Given the description of an element on the screen output the (x, y) to click on. 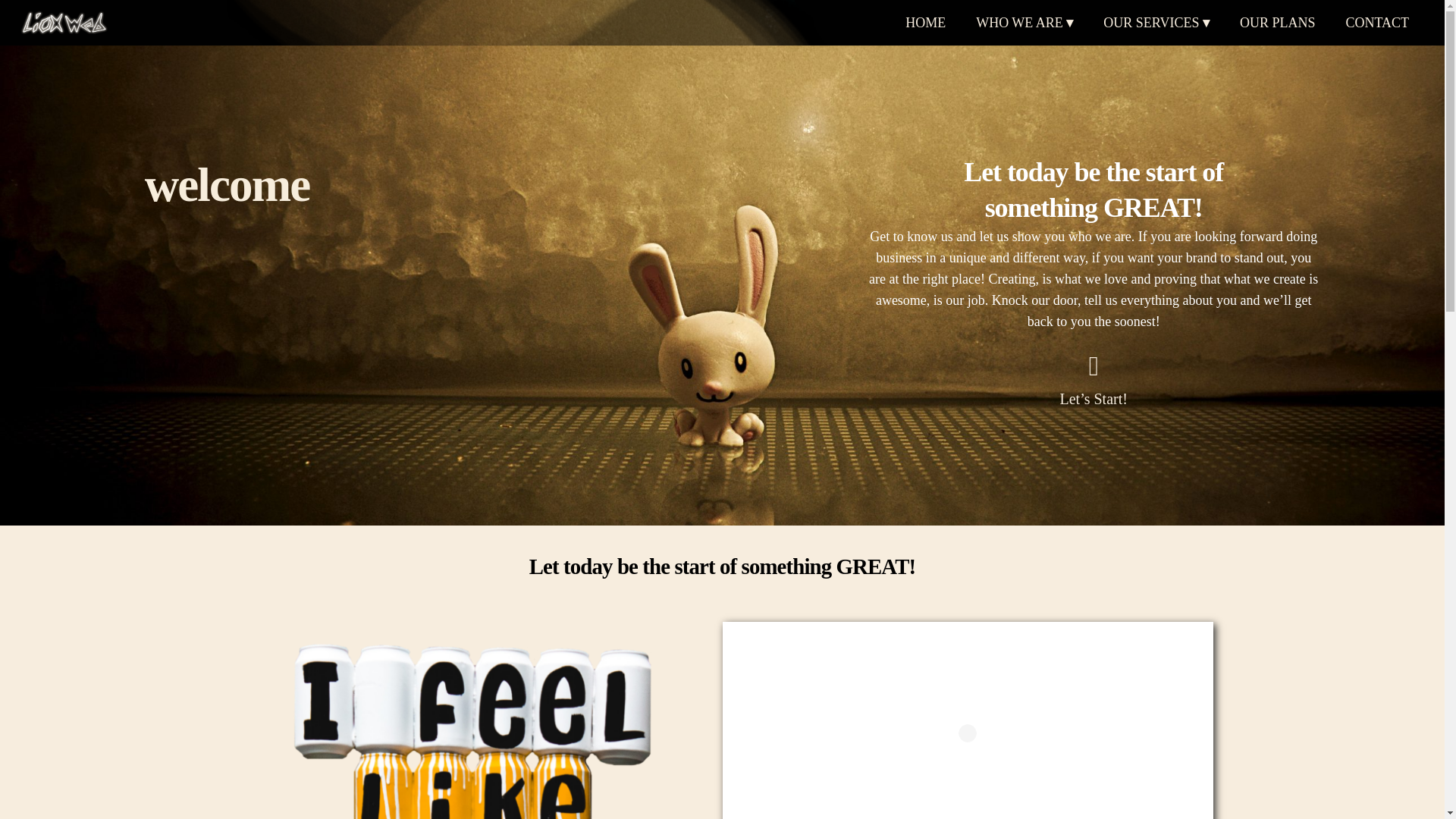
CONTACT (1376, 22)
OUR PLANS (1277, 22)
HOME (924, 22)
